Given the description of an element on the screen output the (x, y) to click on. 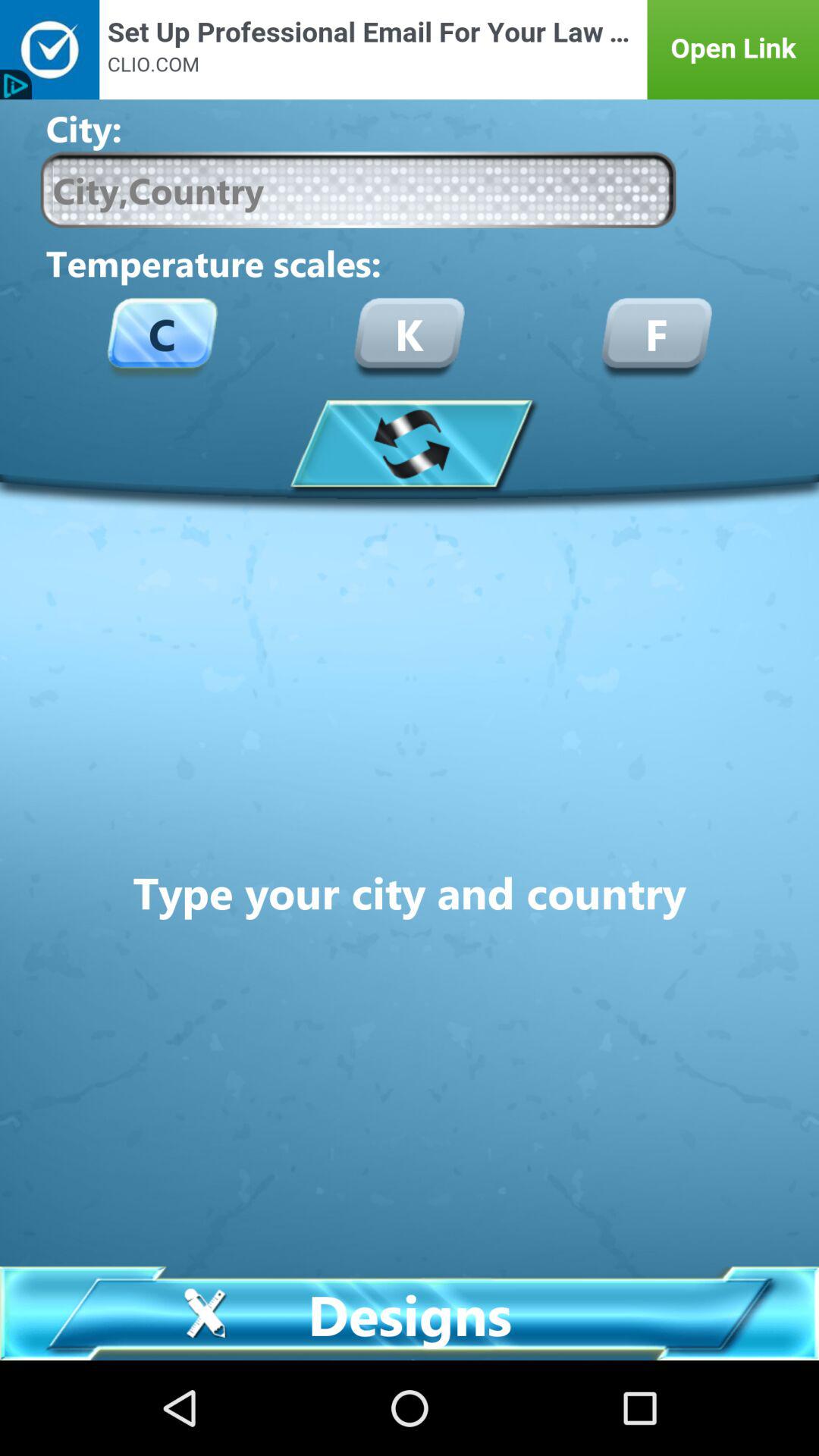
refresh icon (409, 443)
